Given the description of an element on the screen output the (x, y) to click on. 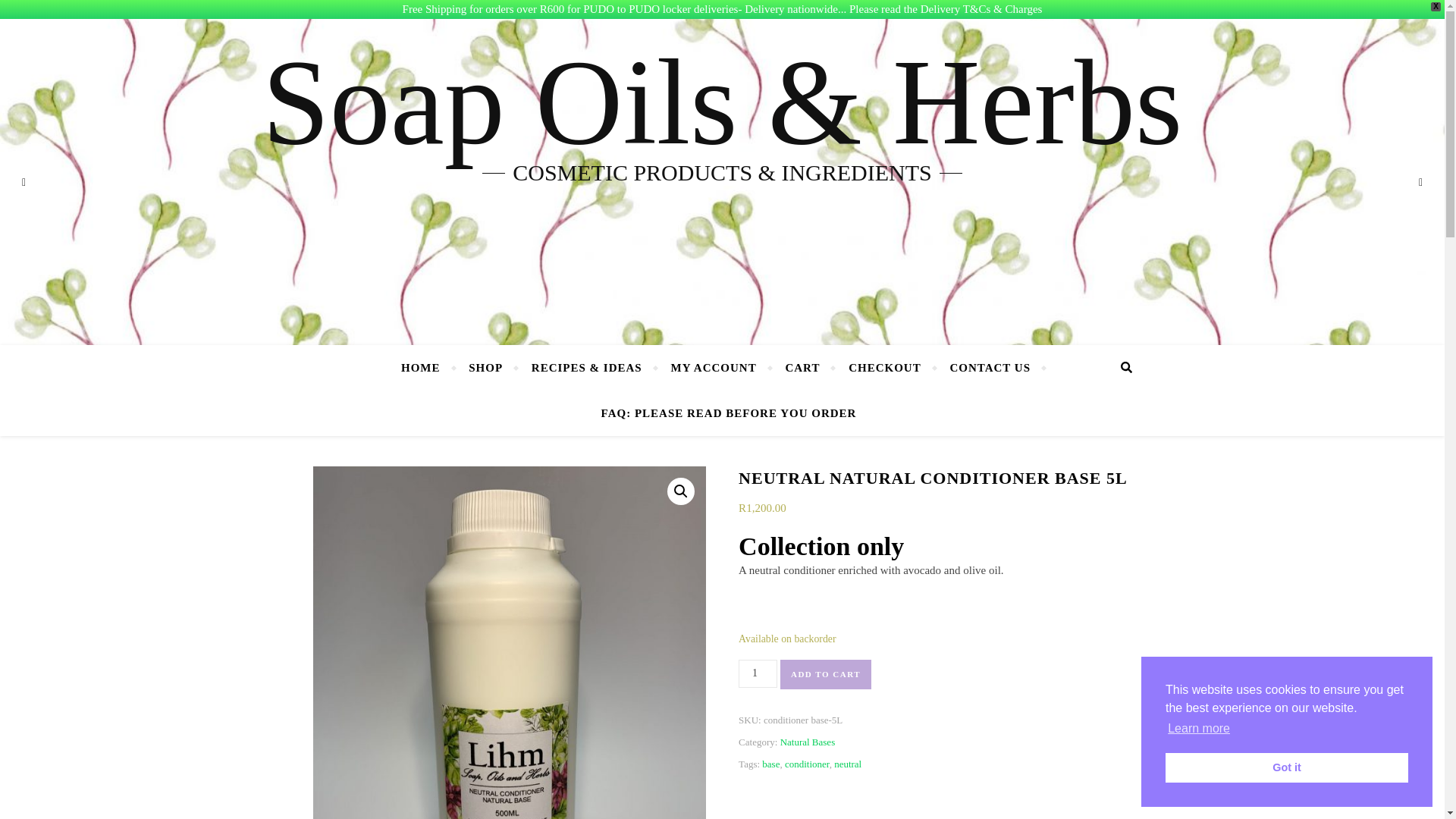
1 (757, 673)
HOME (426, 367)
SHOP (485, 367)
